Given the description of an element on the screen output the (x, y) to click on. 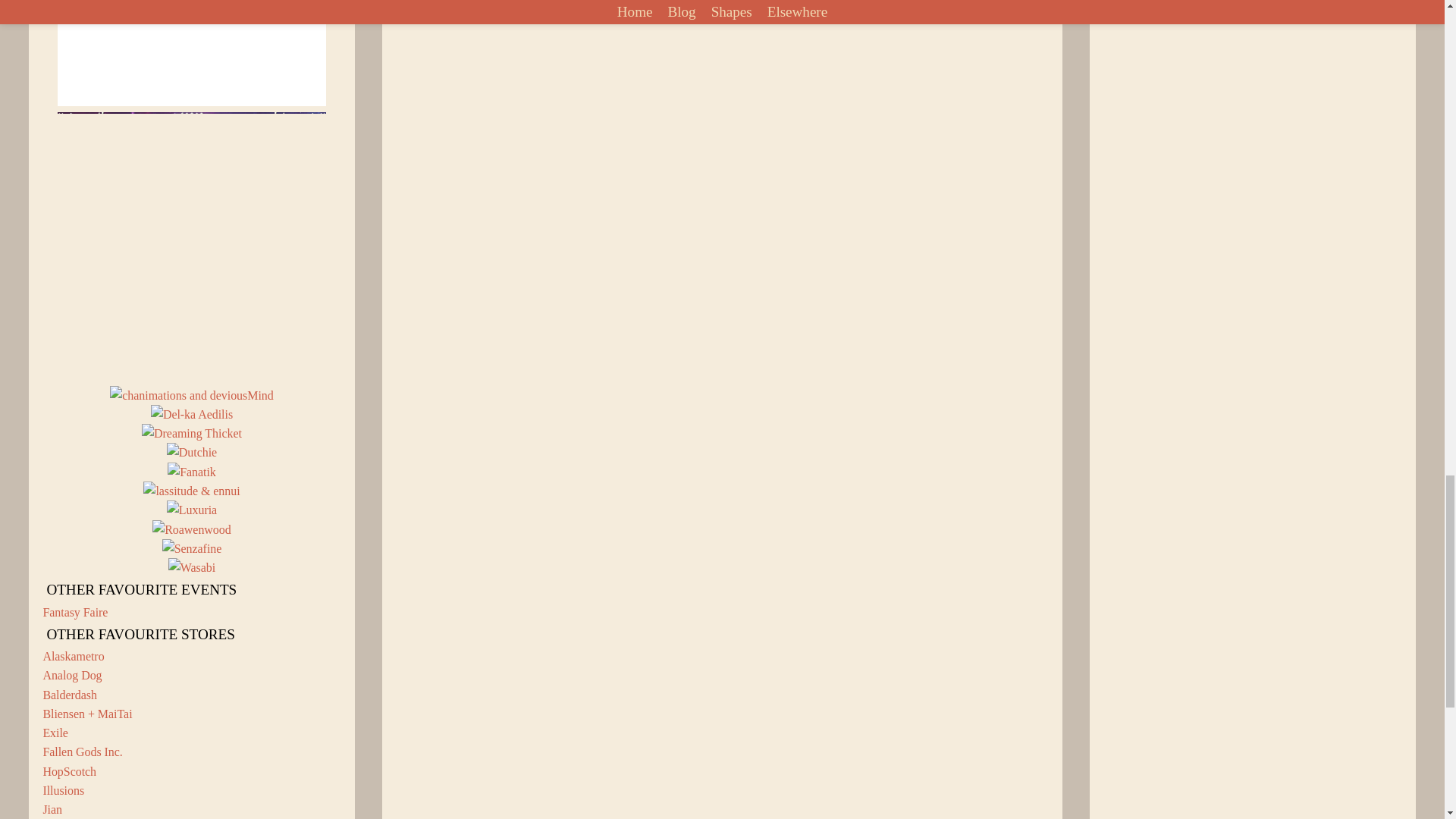
Del-ka Aedilis (191, 414)
Luxuria (191, 509)
Fanatik (191, 471)
Be My Mannequin? (192, 246)
Senzafine (191, 547)
chanimations and deviousMind (191, 394)
Wasabi (191, 567)
Dutchie (191, 452)
Roawenwood (191, 529)
Dreaming Thicket (191, 433)
Adam n Eve (192, 53)
